Given the description of an element on the screen output the (x, y) to click on. 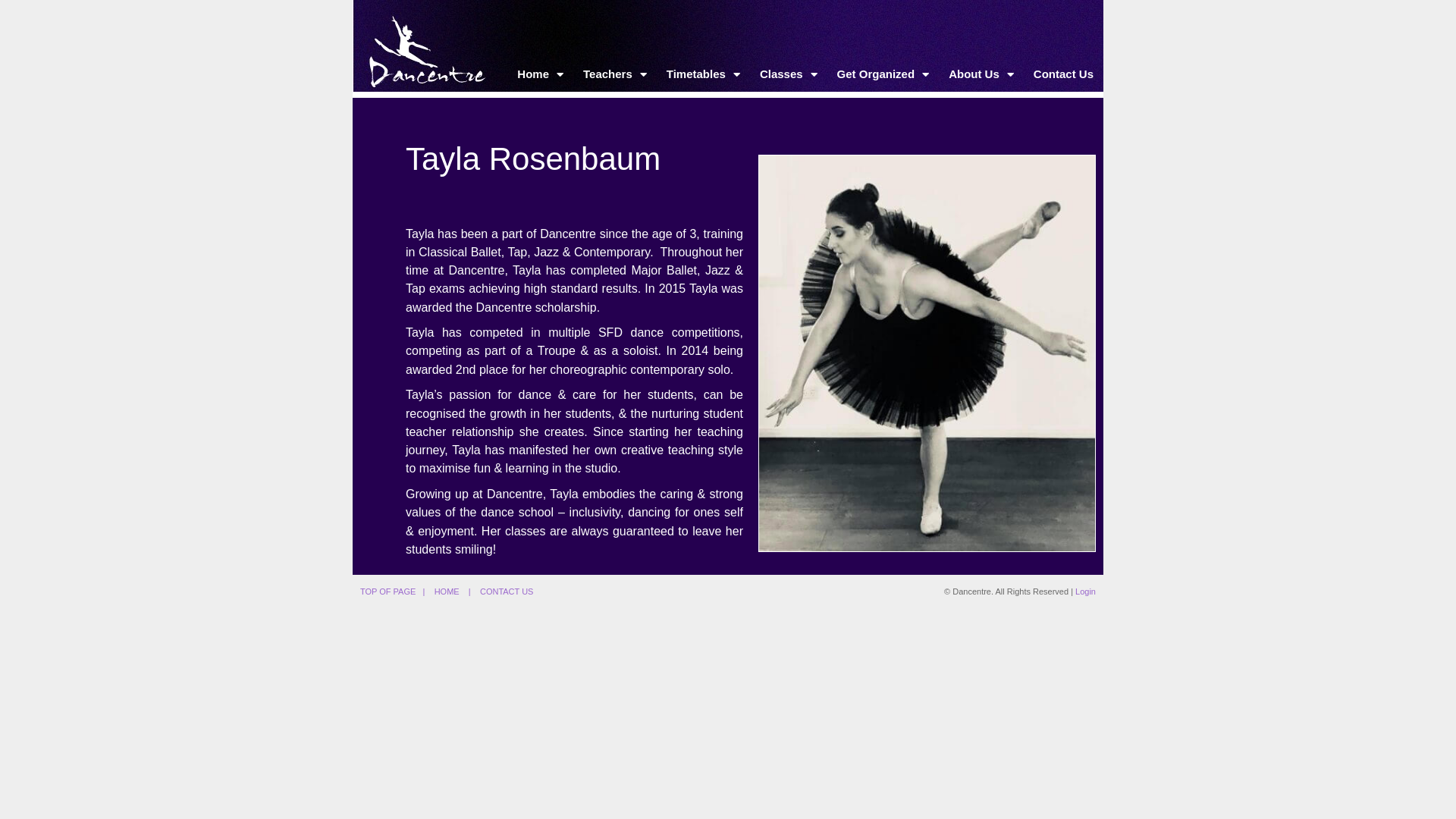
Contact Us Element type: text (1063, 73)
CONTACT US Element type: text (506, 591)
Login Element type: text (1085, 591)
Teachers Element type: text (614, 73)
Classes Element type: text (788, 73)
Get Organized Element type: text (883, 73)
About Us Element type: text (980, 73)
Home Element type: text (540, 73)
TOP OF PAGE Element type: text (387, 591)
Timetables Element type: text (702, 73)
HOME Element type: text (446, 591)
